Given the description of an element on the screen output the (x, y) to click on. 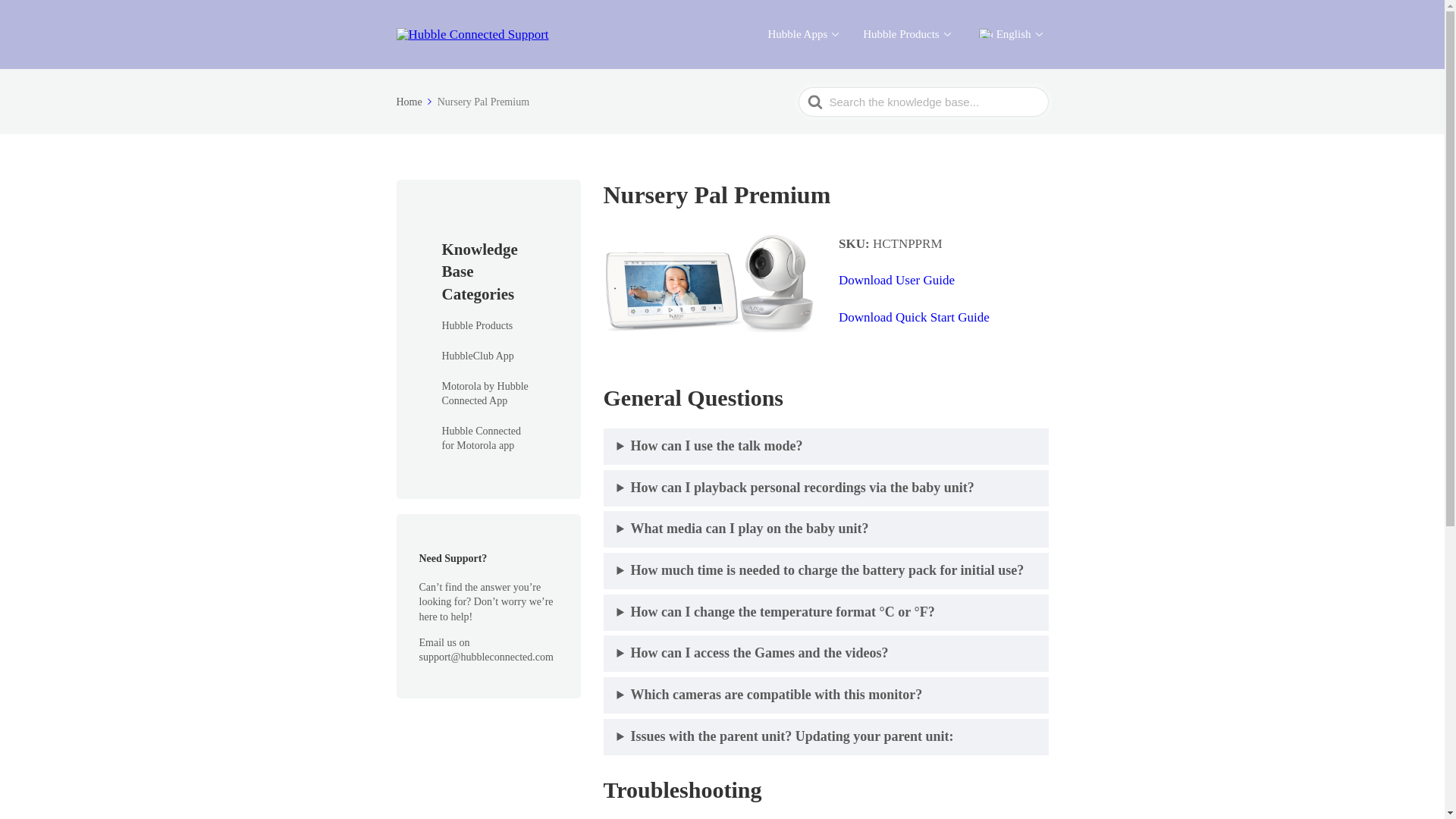
English (985, 32)
Home (414, 101)
Hubble Products (906, 33)
Motorola by Hubble Connected App (487, 393)
English (1008, 33)
Download User Guide (896, 279)
Hubble Connected for Motorola app (487, 438)
Hubble Apps (802, 33)
Hubble Products (476, 326)
HubbleClub App (477, 356)
Download Quick Start Guide (914, 317)
